Given the description of an element on the screen output the (x, y) to click on. 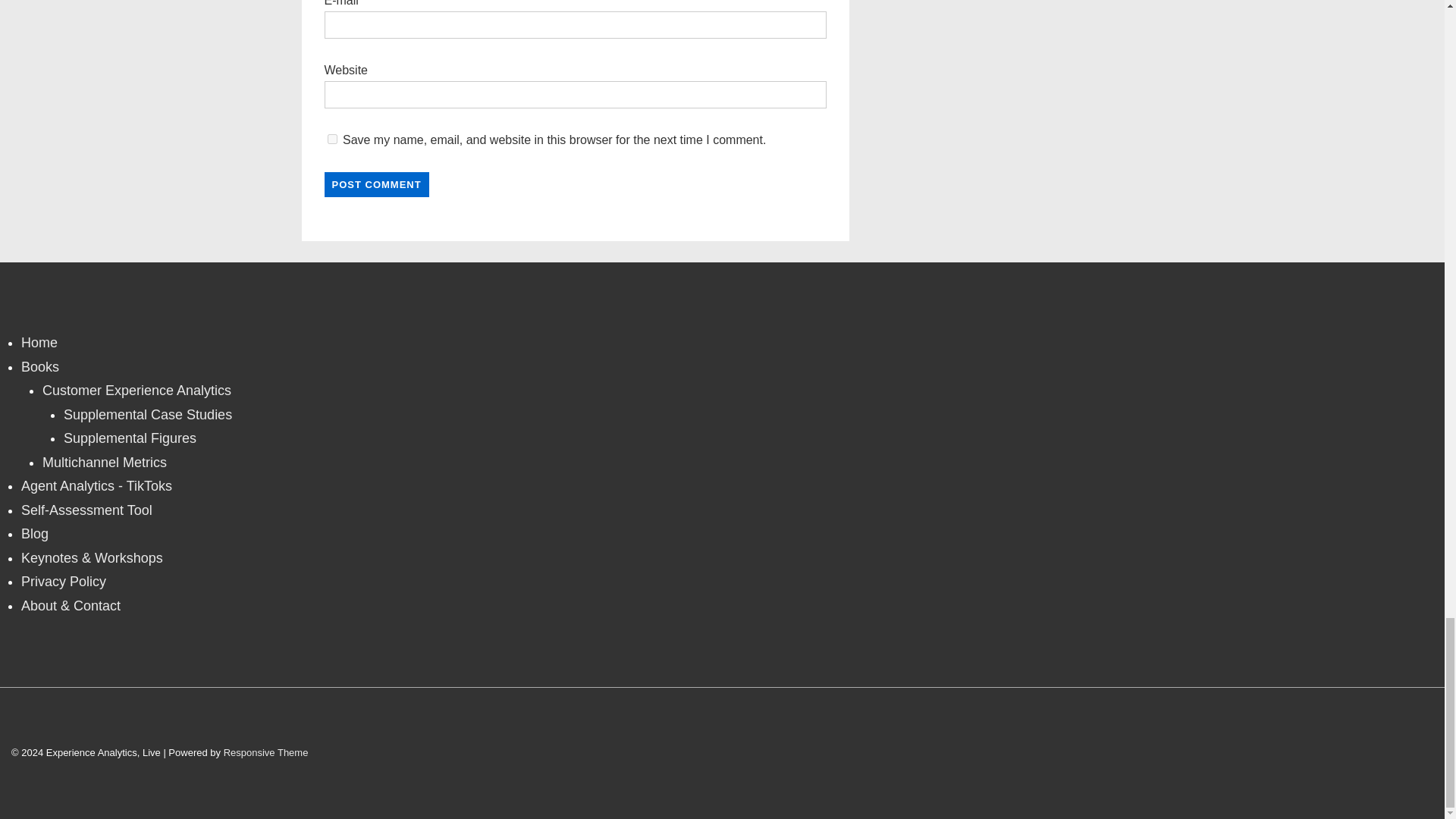
Post Comment (376, 184)
yes (332, 139)
Post Comment (376, 184)
